Given the description of an element on the screen output the (x, y) to click on. 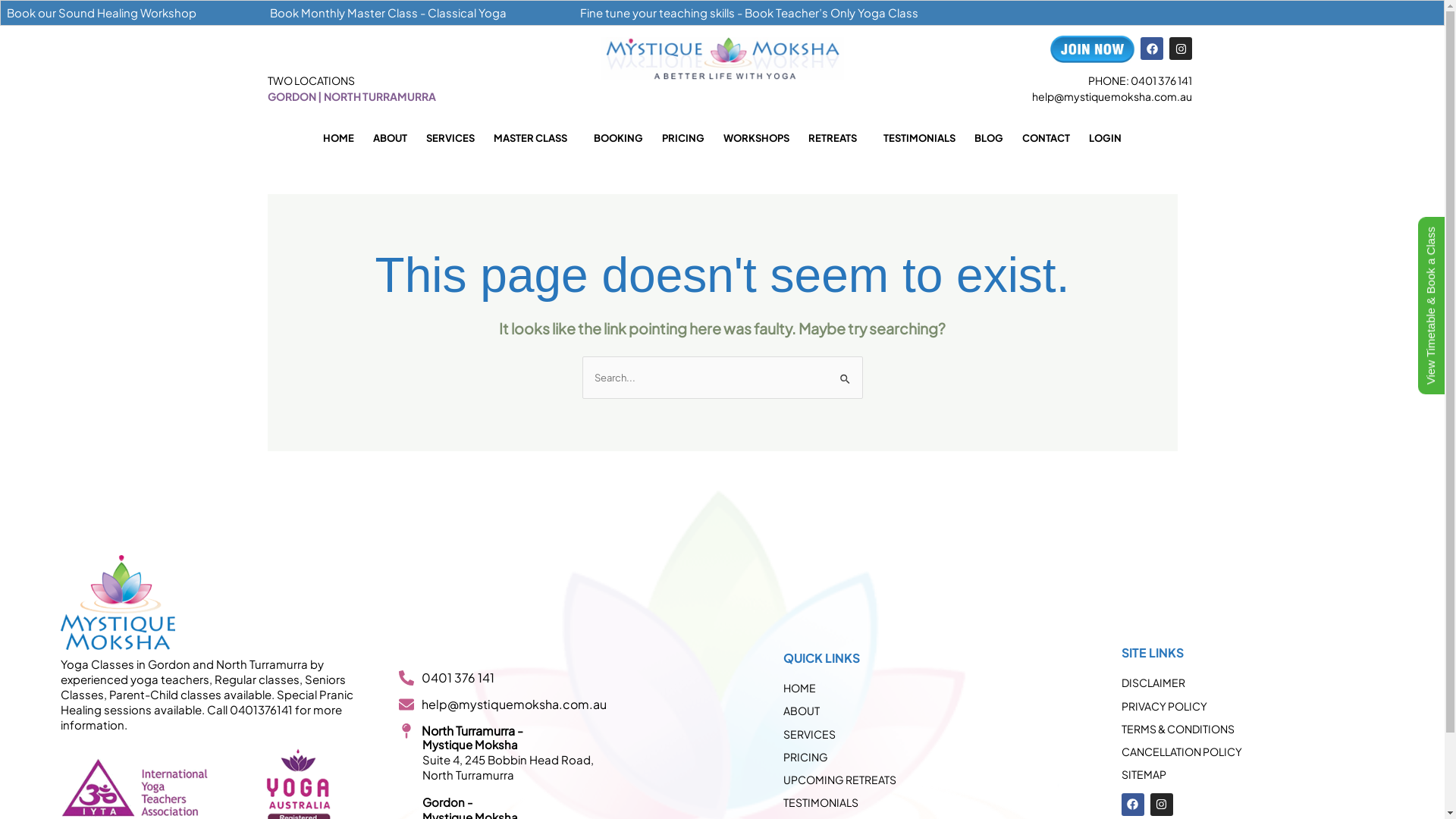
help@mystiquemoksha.com.au Element type: text (1112, 96)
PRIVACY POLICY Element type: text (1282, 705)
Book our Sound Healing Workshop Element type: text (101, 12)
DISCLAIMER Element type: text (1282, 682)
LOGIN Element type: text (1105, 138)
RETREATS Element type: text (836, 138)
HOME Element type: text (932, 687)
ABOUT Element type: text (932, 710)
SERVICES Element type: text (450, 138)
PHONE: 0401 376 141 Element type: text (1140, 80)
PRICING Element type: text (932, 756)
Instagram Element type: text (1180, 48)
BLOG Element type: text (988, 138)
Facebook Element type: text (1132, 804)
CONTACT Element type: text (1045, 138)
help@mystiquemoksha.com.au Element type: text (559, 704)
PRICING Element type: text (683, 138)
SITEMAP Element type: text (1282, 773)
Book Monthly Master Class - Classical Yoga Element type: text (387, 12)
Instagram Element type: text (1161, 804)
TESTIMONIALS Element type: text (932, 801)
HOME Element type: text (338, 138)
0401 376 141 Element type: text (559, 677)
UPCOMING RETREATS Element type: text (932, 779)
TESTIMONIALS Element type: text (919, 138)
Facebook Element type: text (1151, 48)
ABOUT Element type: text (389, 138)
BOOKING Element type: text (618, 138)
SERVICES Element type: text (932, 733)
MASTER CLASS Element type: text (534, 138)
Search Element type: text (845, 371)
WORKSHOPS Element type: text (756, 138)
TERMS & CONDITIONS Element type: text (1282, 728)
CANCELLATION POLICY Element type: text (1282, 751)
